Given the description of an element on the screen output the (x, y) to click on. 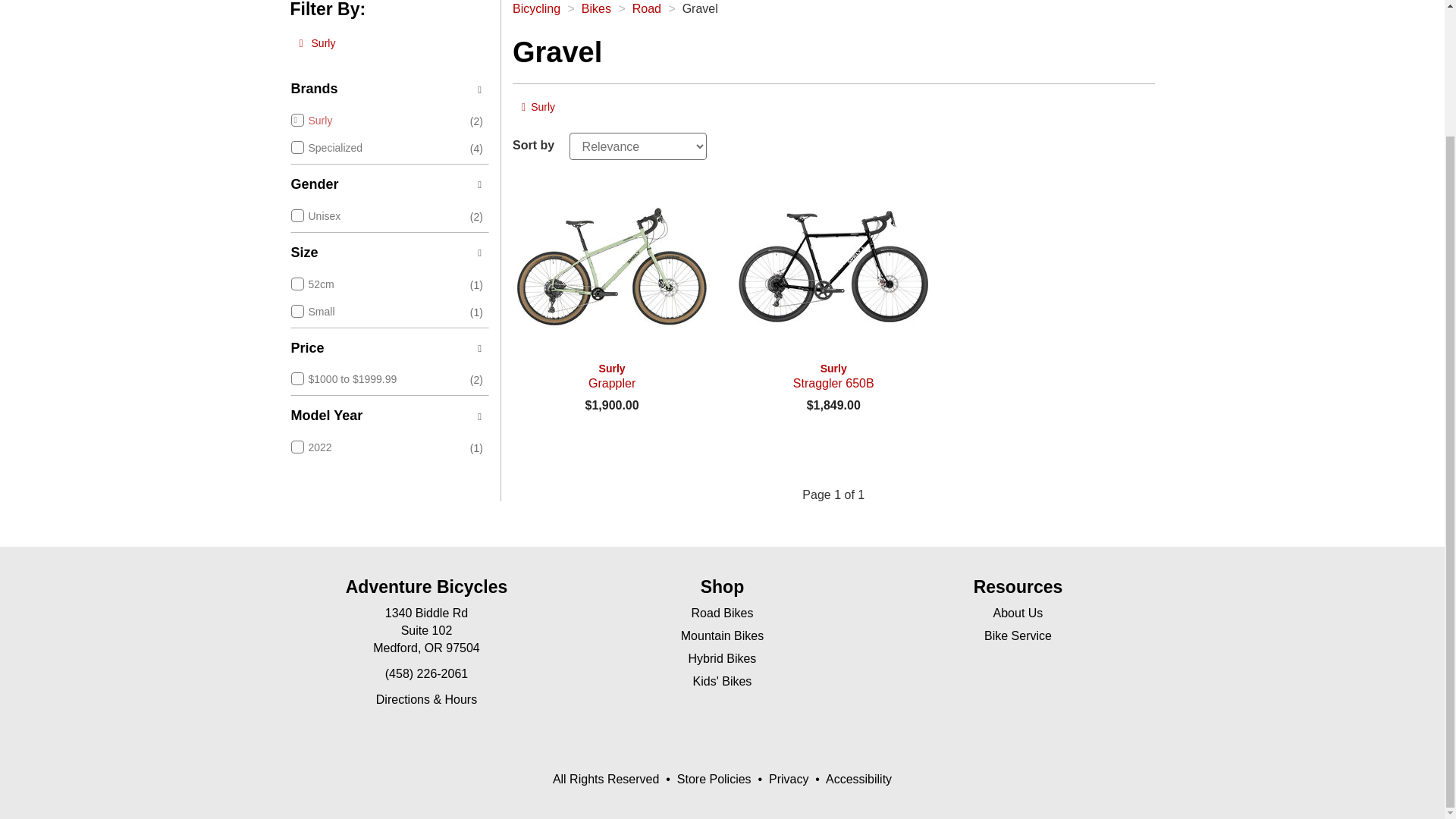
Bikes (595, 9)
Surly Straggler 650B (833, 376)
Bicycling (536, 9)
Price (387, 348)
Surly Straggler 650B (316, 43)
Gender (833, 266)
Surly Grappler (387, 184)
Size (611, 266)
Surly Grappler (387, 252)
Road (611, 376)
Brands (646, 9)
Model Year (538, 107)
